Given the description of an element on the screen output the (x, y) to click on. 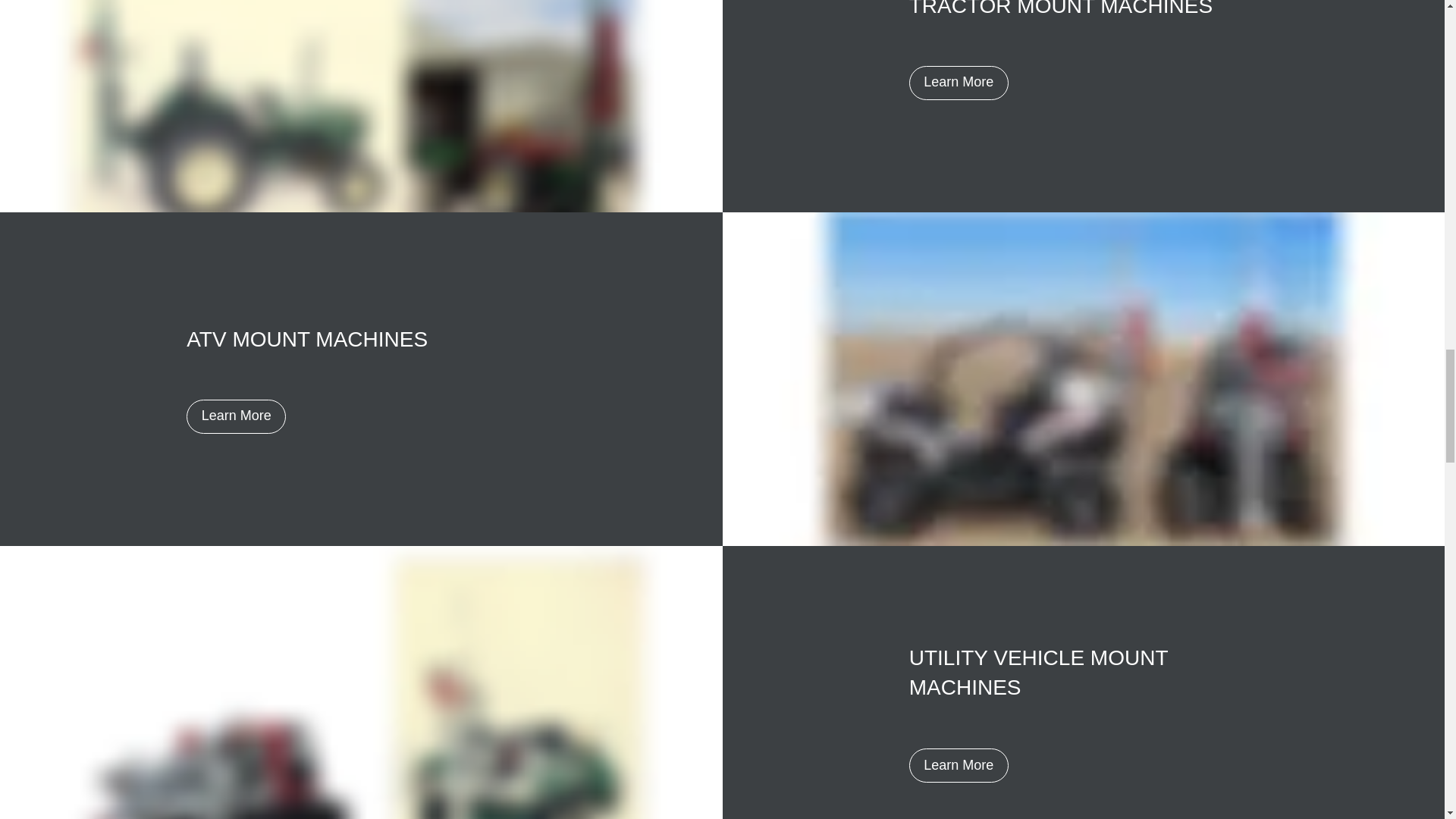
UTILITY VEHICLE MOUNT MACHINES (1037, 672)
ATV MOUNT MACHINES (307, 339)
Learn More (235, 415)
TRACTOR MOUNT MACHINES (1060, 8)
Learn More (958, 765)
Learn More (958, 82)
